Given the description of an element on the screen output the (x, y) to click on. 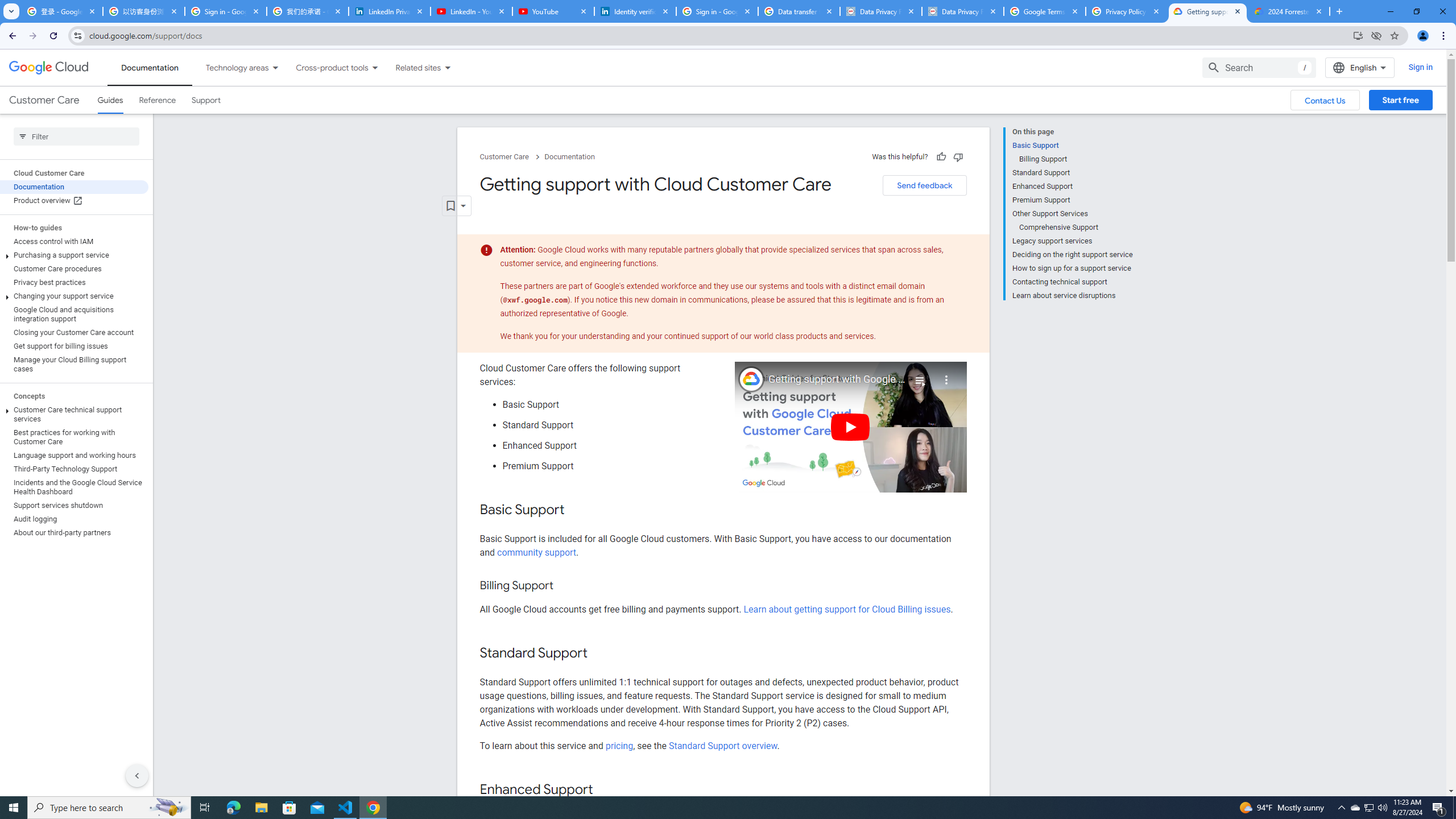
How to sign up for a support service (1071, 268)
Dropdown menu for Related sites (447, 67)
LinkedIn - YouTube (470, 11)
Guides, selected (109, 99)
Manage your Cloud Billing support cases (74, 363)
Dropdown menu for Technology areas (274, 67)
Product overview (74, 200)
Hide side navigation (136, 775)
Legacy support services (1071, 241)
Customer Care chevron_right (511, 156)
